Given the description of an element on the screen output the (x, y) to click on. 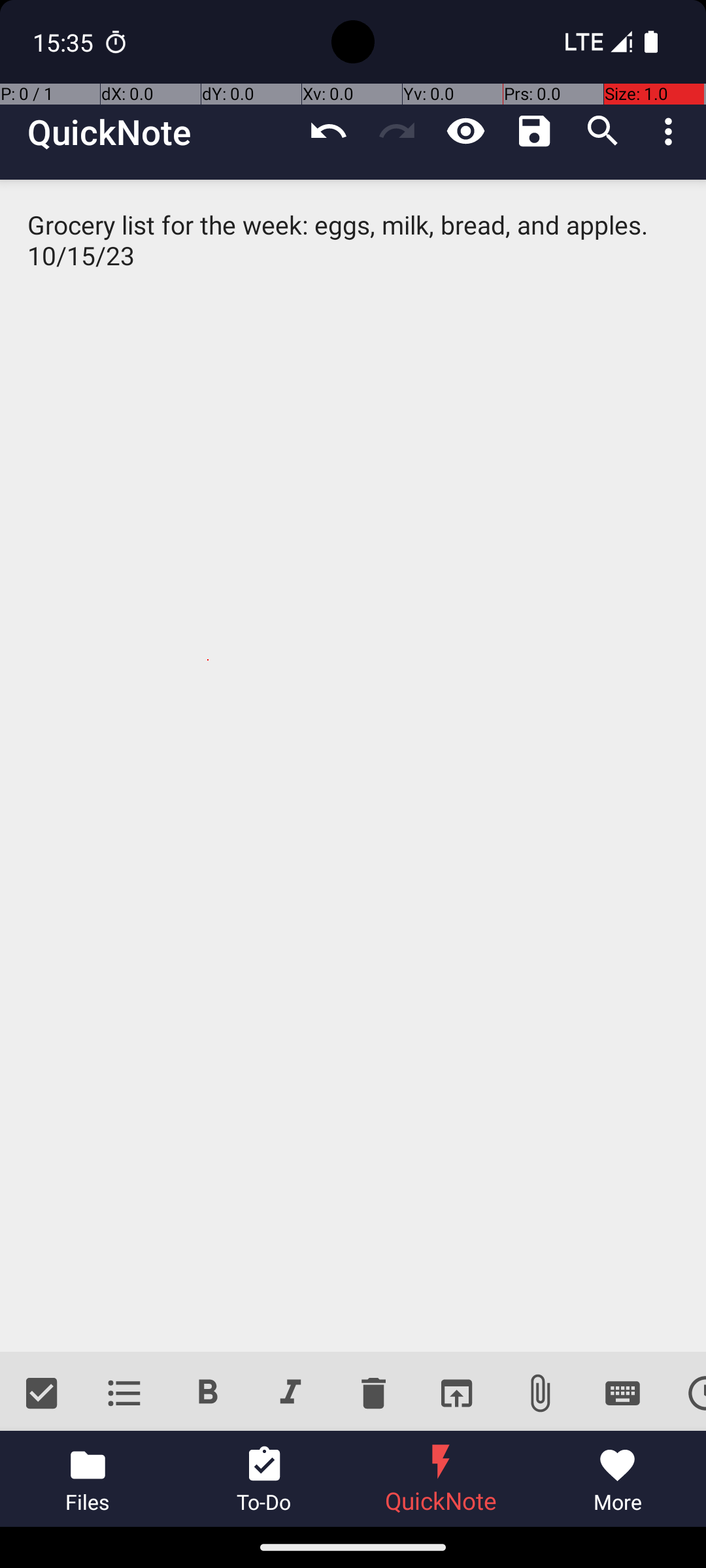
Grocery list for the week: eggs, milk, bread, and apples.
10/15/23 Element type: android.widget.EditText (353, 765)
